Given the description of an element on the screen output the (x, y) to click on. 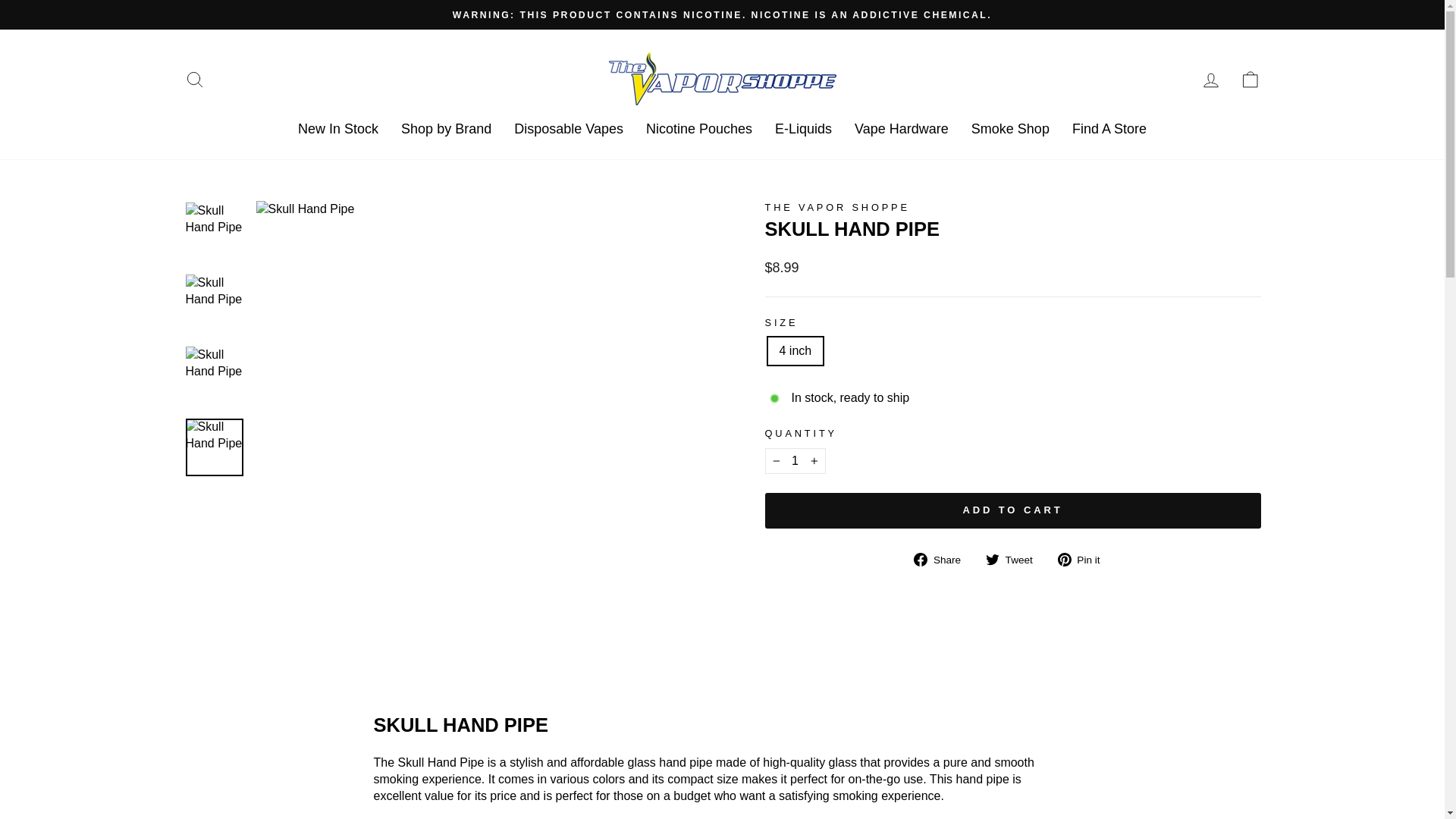
The Vapor Shoppe (836, 206)
Tweet on Twitter (1014, 559)
1 (794, 460)
Share on Facebook (943, 559)
Pin on Pinterest (1085, 559)
